Given the description of an element on the screen output the (x, y) to click on. 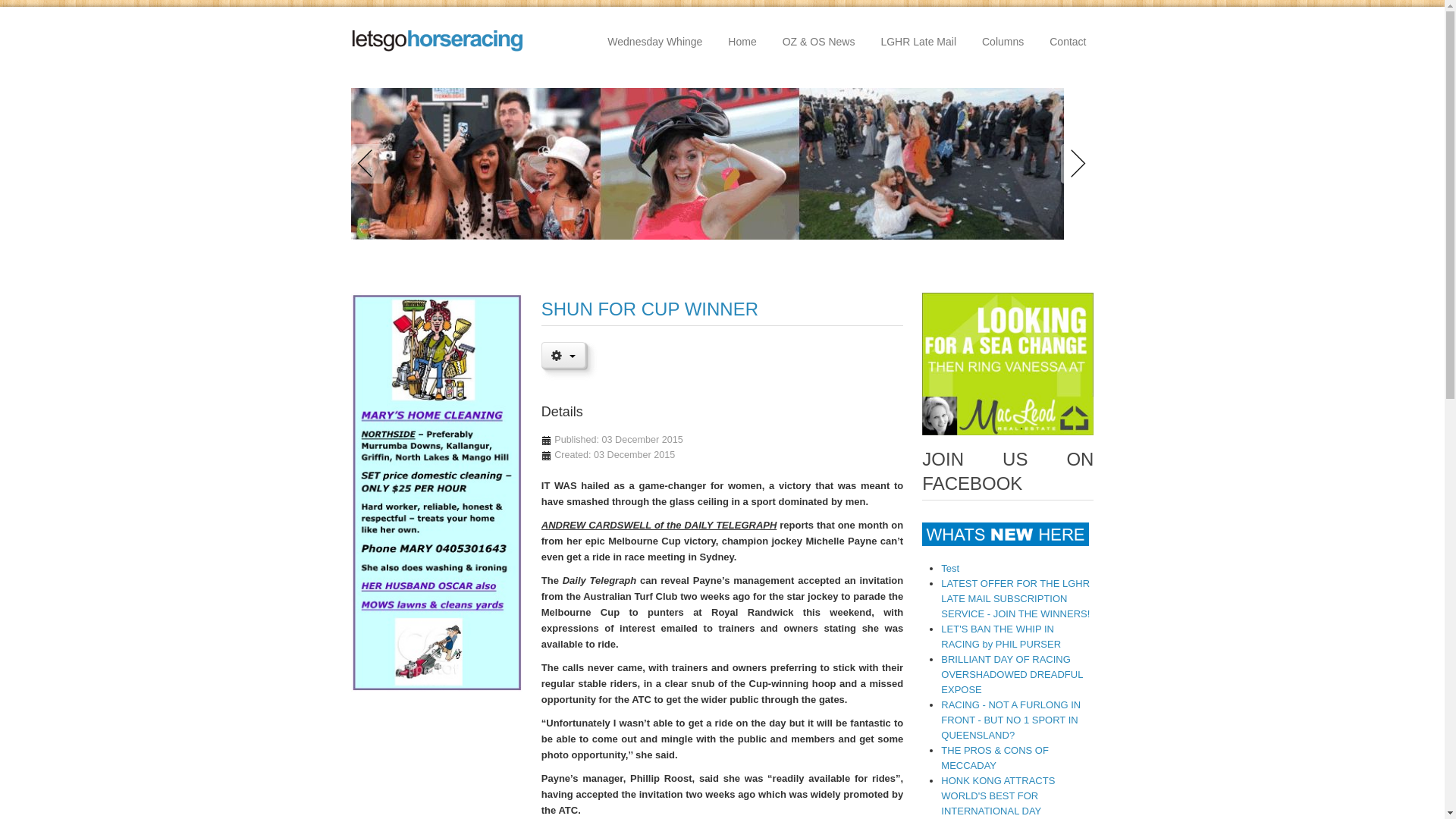
Columns Element type: text (1002, 41)
HONK KONG ATTRACTS WORLD'S BEST FOR INTERNATIONAL DAY Element type: text (997, 795)
Test Element type: text (950, 568)
Previous Element type: text (369, 163)
Home Element type: text (741, 41)
LGHR Late Mail Element type: text (917, 41)
Wednesday Whinge Element type: text (654, 41)
Contact Element type: text (1067, 41)
THE PROS & CONS OF MECCADAY Element type: text (994, 757)
LET'S BAN THE WHIP IN RACING by PHIL PURSER Element type: text (1000, 636)
OZ & OS News Element type: text (818, 41)
BRILLIANT DAY OF RACING OVERSHADOWED DREADFUL EXPOSE Element type: text (1011, 674)
Next Element type: text (1073, 163)
Mcleod Element type: hover (1007, 363)
